Given the description of an element on the screen output the (x, y) to click on. 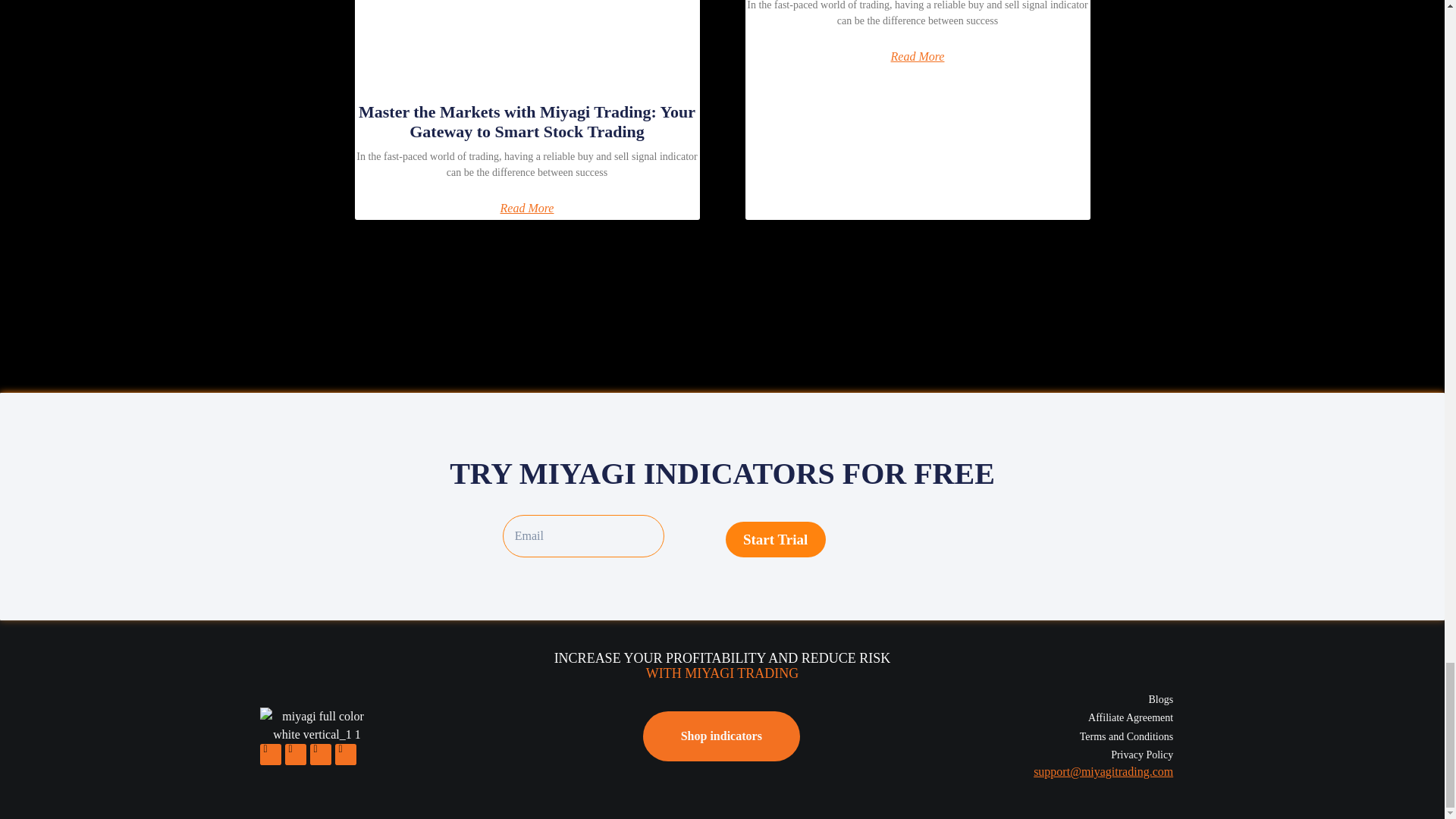
Privacy Policy (1030, 754)
Shop indicators (721, 736)
Start Trial (775, 539)
Read More (917, 56)
Affiliate Agreement (1030, 717)
Blogs (1030, 699)
Read More (527, 208)
Terms and Conditions (1030, 736)
